Given the description of an element on the screen output the (x, y) to click on. 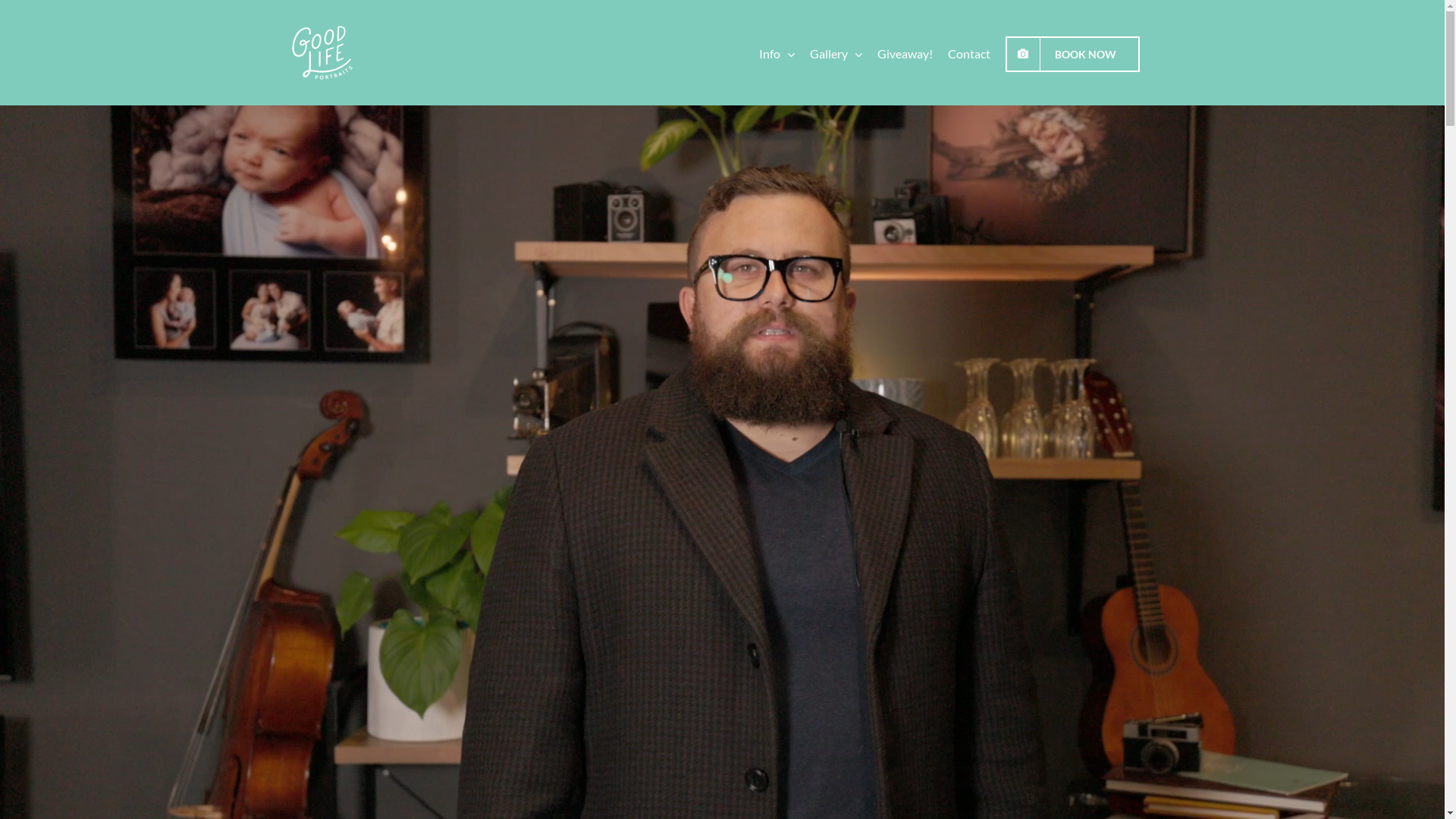
Gallery Element type: text (835, 52)
Giveaway! Element type: text (903, 52)
BOOK NOW Element type: text (1072, 52)
Contact Element type: text (968, 52)
Info Element type: text (775, 52)
